Given the description of an element on the screen output the (x, y) to click on. 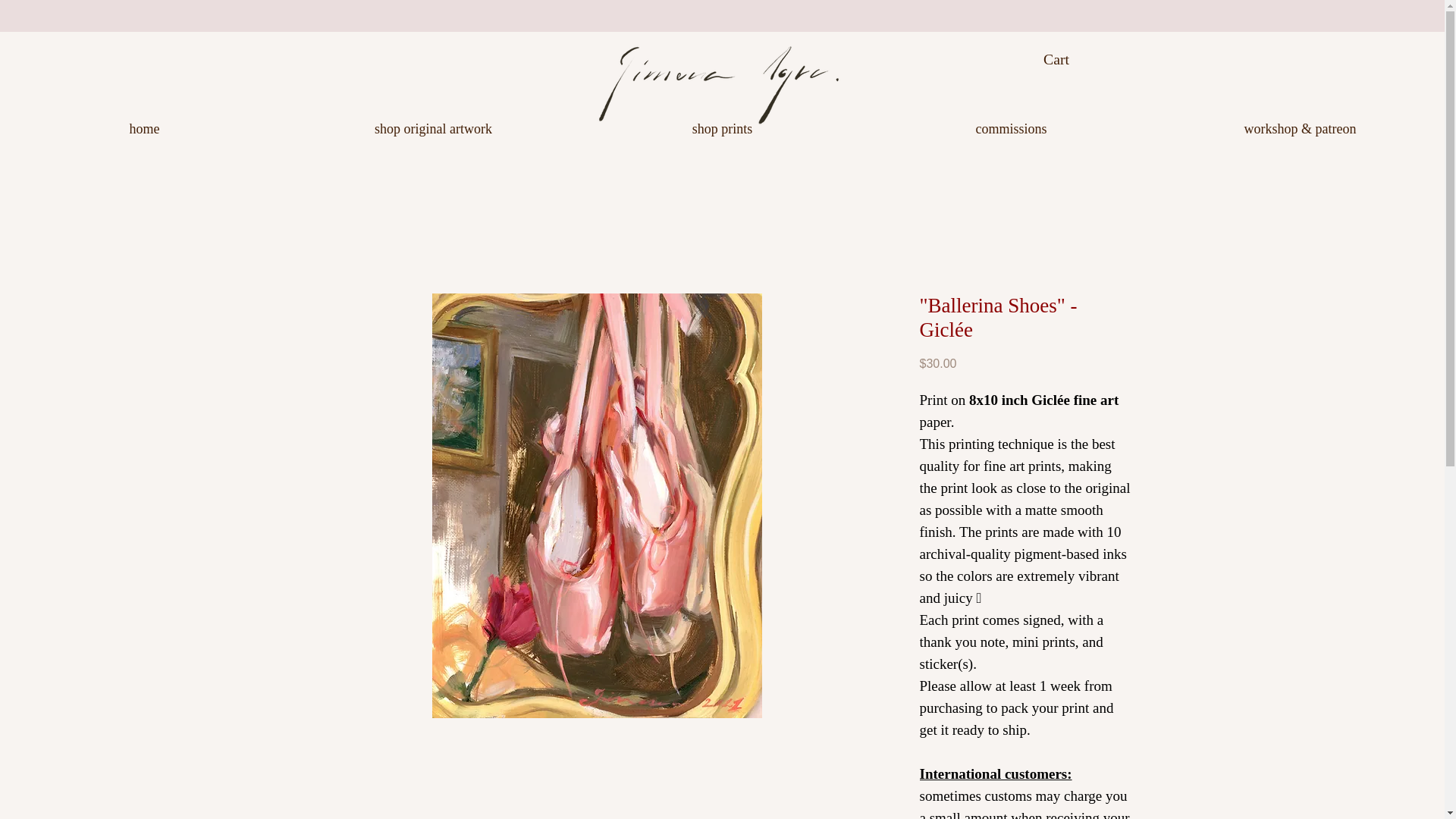
Cart (1068, 58)
shop original artwork (433, 128)
commissions (1011, 128)
shop prints (722, 128)
home (144, 128)
Cart (1068, 58)
